Given the description of an element on the screen output the (x, y) to click on. 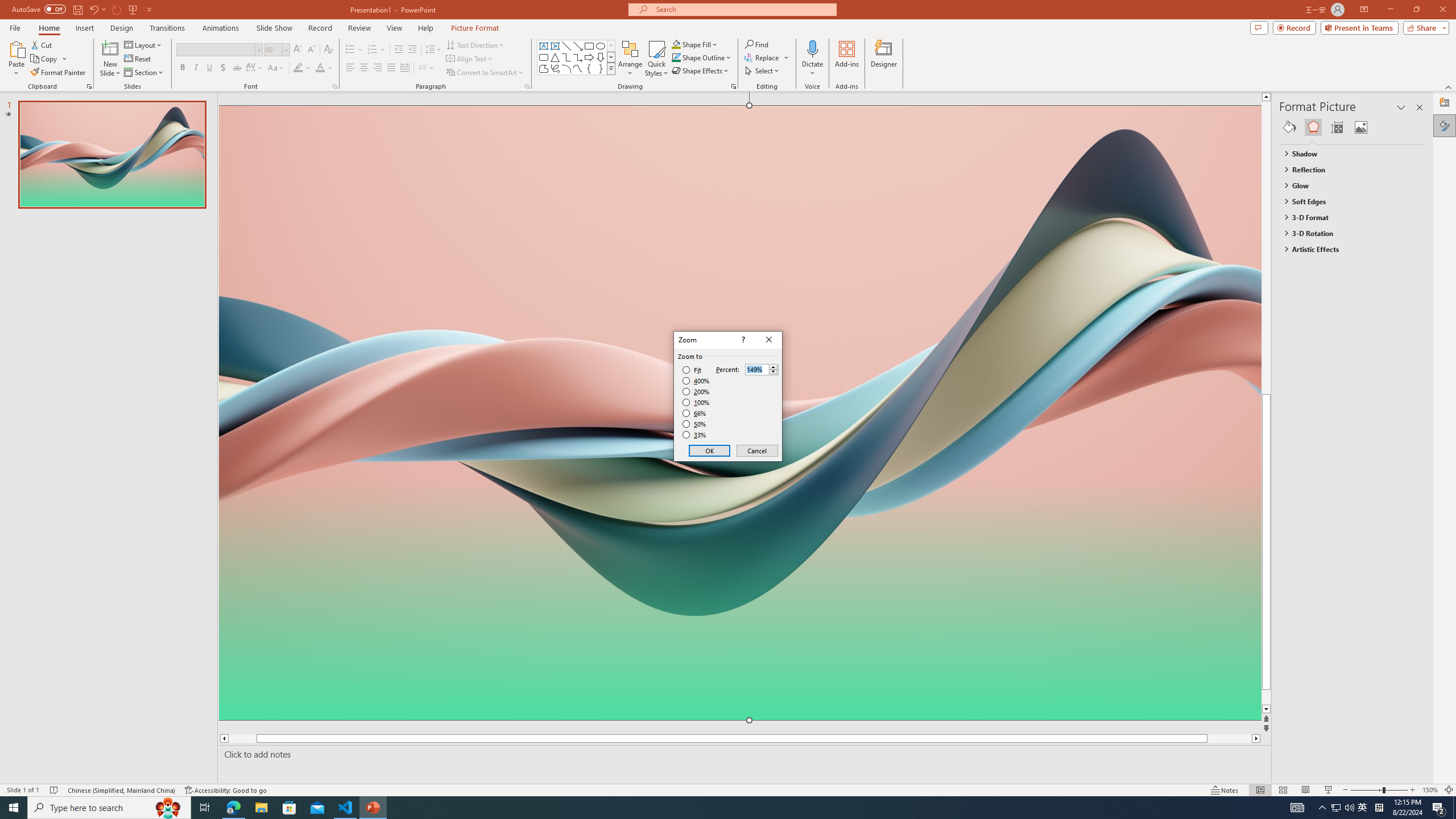
50% (694, 424)
